Given the description of an element on the screen output the (x, y) to click on. 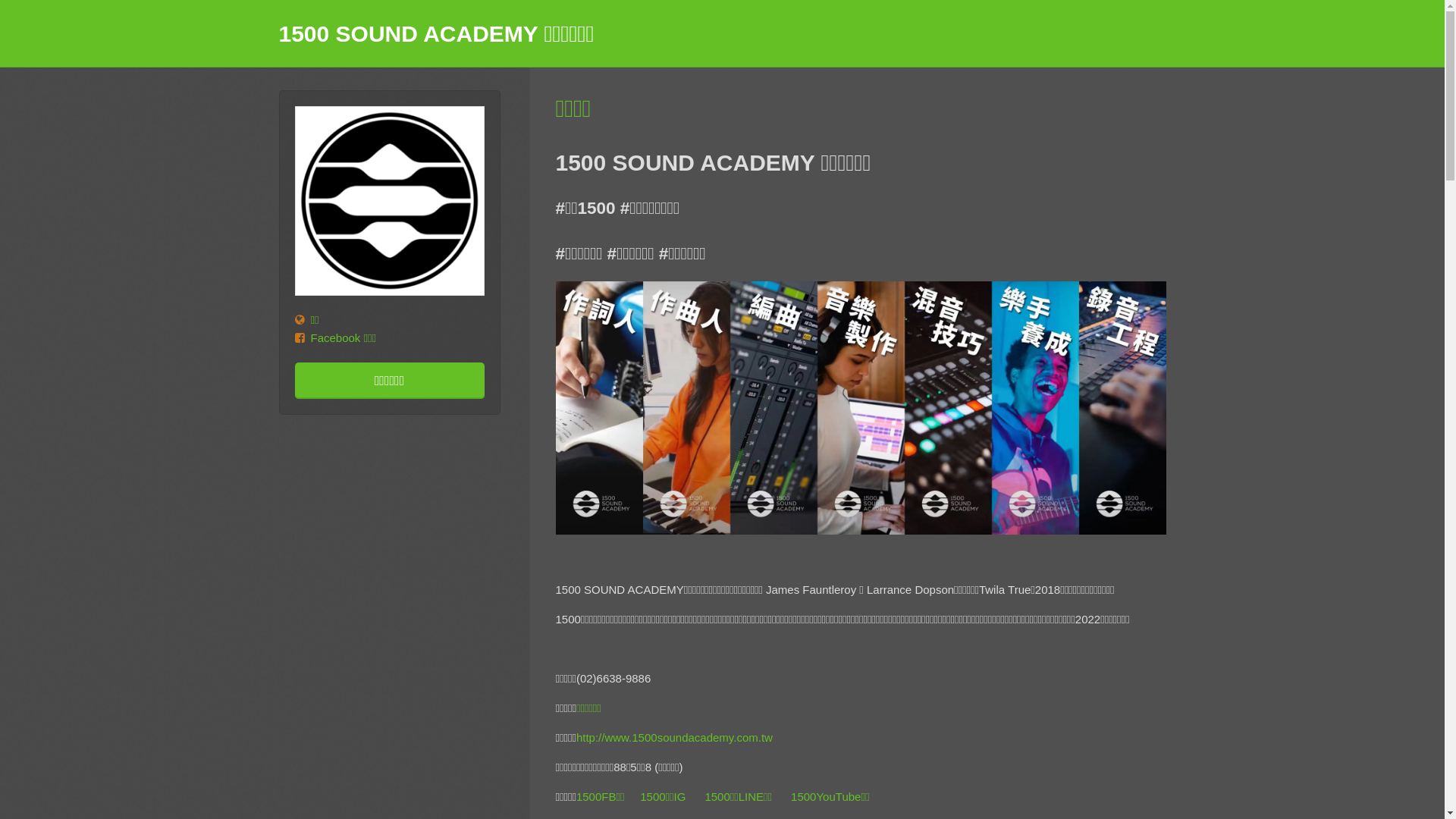
http://www.1500soundacademy.com.tw Element type: text (674, 737)
